Given the description of an element on the screen output the (x, y) to click on. 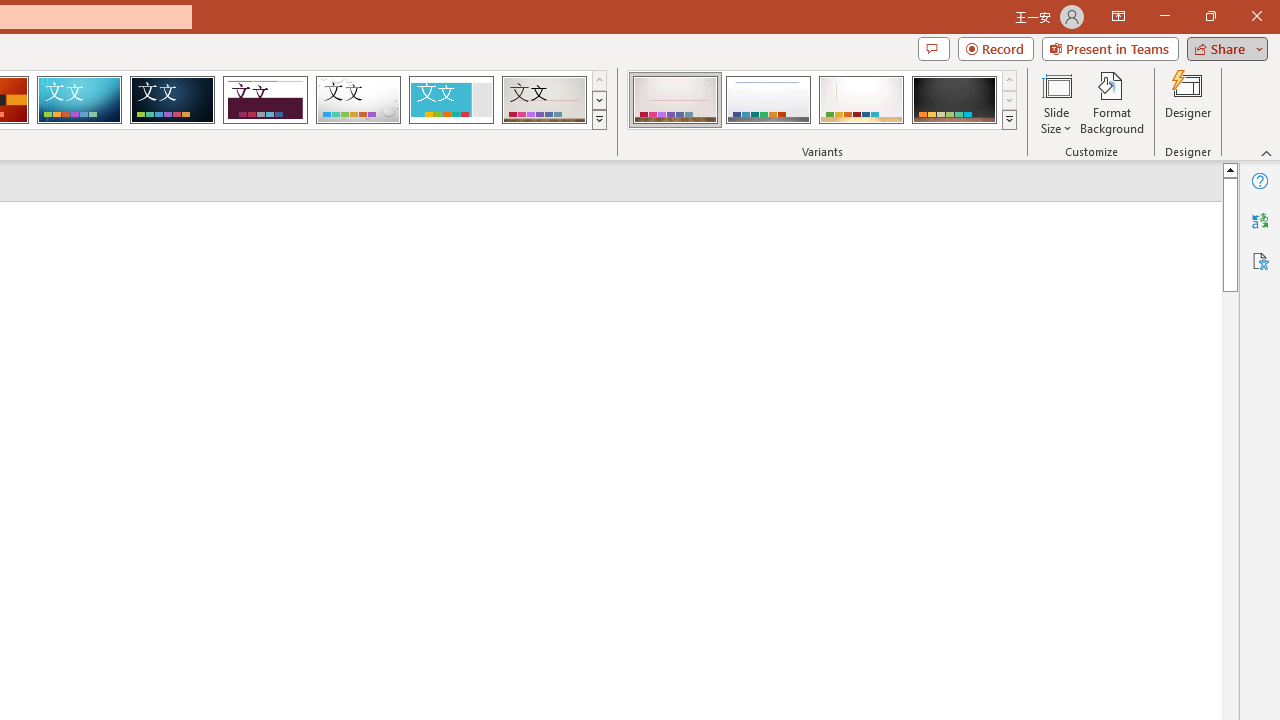
Frame (450, 100)
Dividend (265, 100)
Themes (598, 120)
Slide Size (1056, 102)
Gallery Variant 4 (953, 100)
Circuit (79, 100)
